Given the description of an element on the screen output the (x, y) to click on. 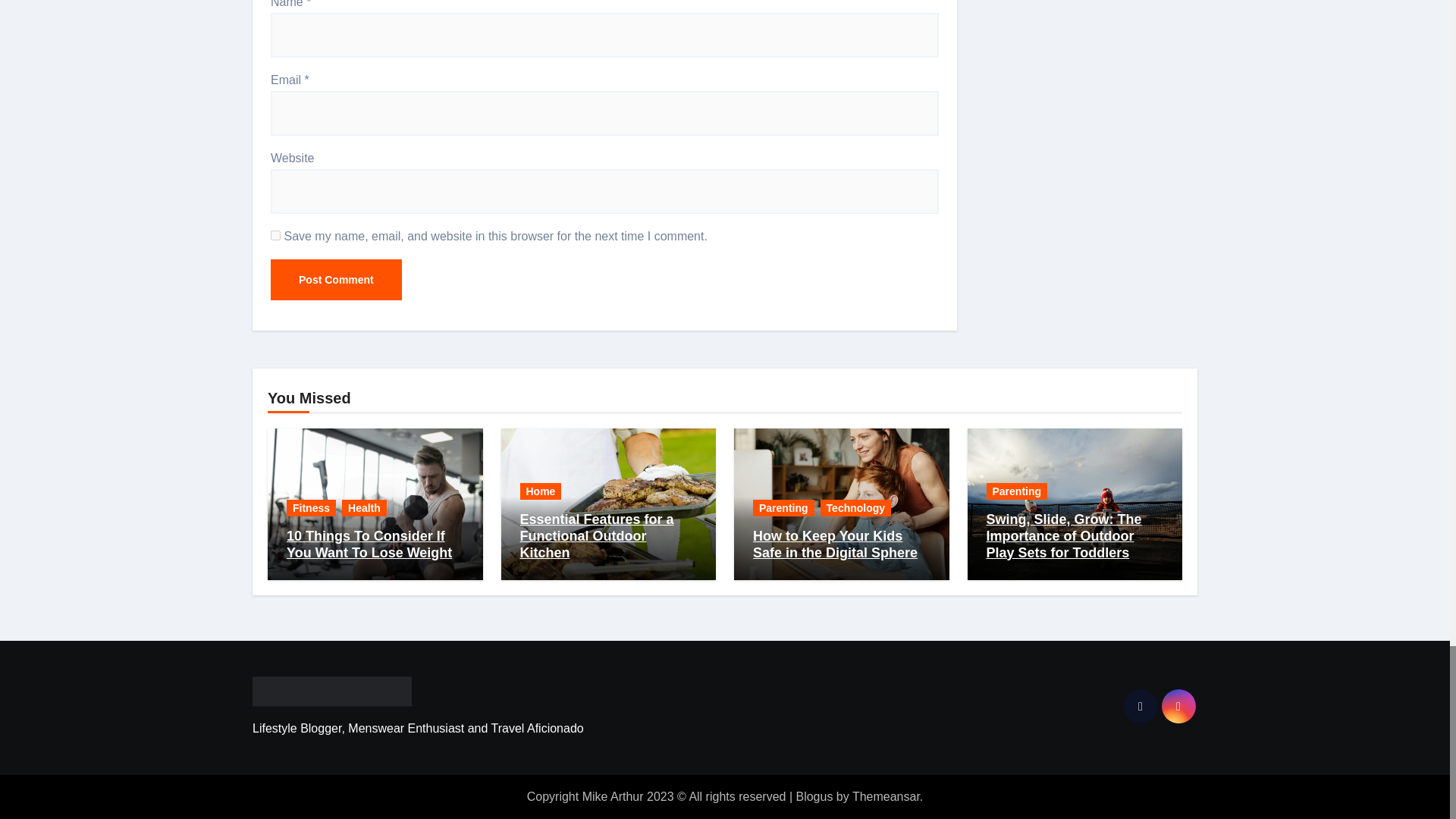
yes (275, 235)
Post Comment (335, 279)
